Given the description of an element on the screen output the (x, y) to click on. 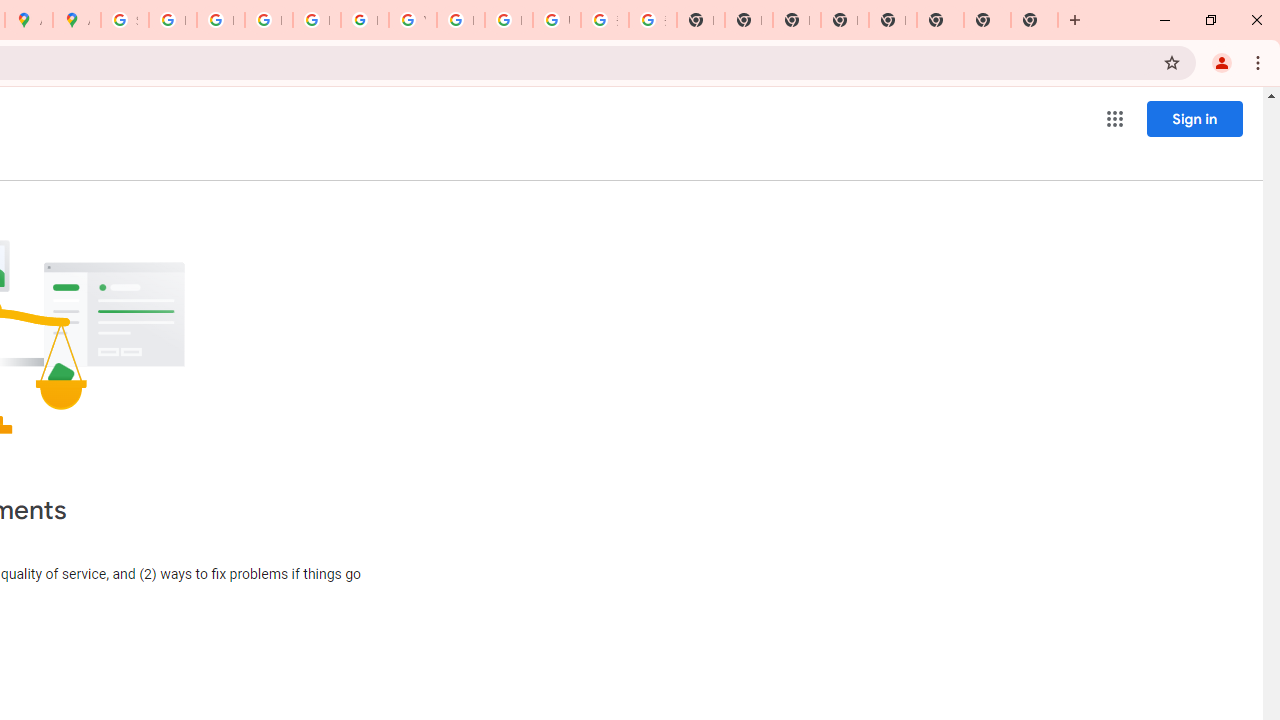
New Tab (1034, 20)
New Tab (987, 20)
Privacy Help Center - Policies Help (268, 20)
Privacy Help Center - Policies Help (220, 20)
